Given the description of an element on the screen output the (x, y) to click on. 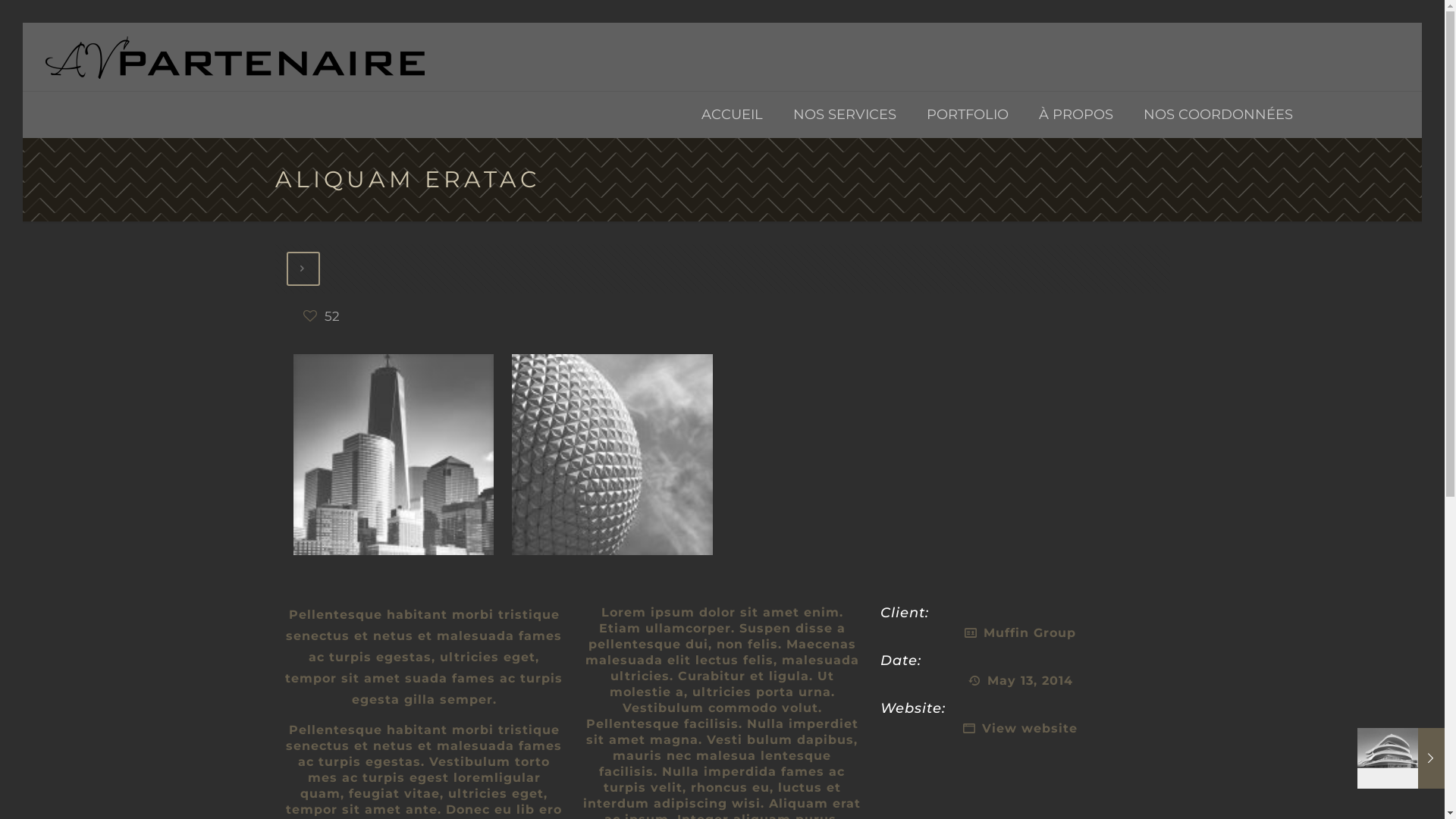
PORTFOLIO Element type: text (967, 114)
52 Element type: text (321, 316)
View website Element type: text (1029, 728)
ACCUEIL Element type: text (732, 114)
AV Partenaire Element type: hover (234, 56)
NOS SERVICES Element type: text (844, 114)
